Given the description of an element on the screen output the (x, y) to click on. 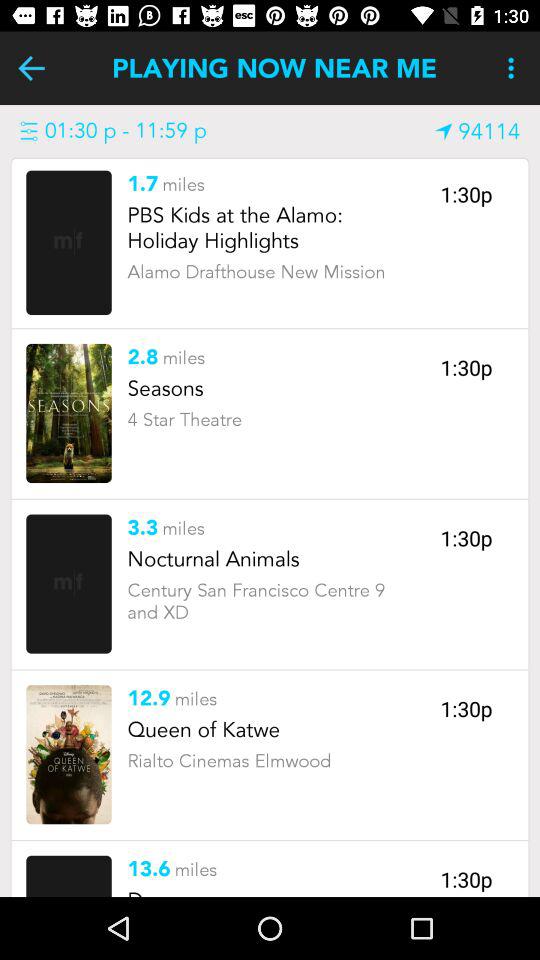
go back (31, 67)
